Given the description of an element on the screen output the (x, y) to click on. 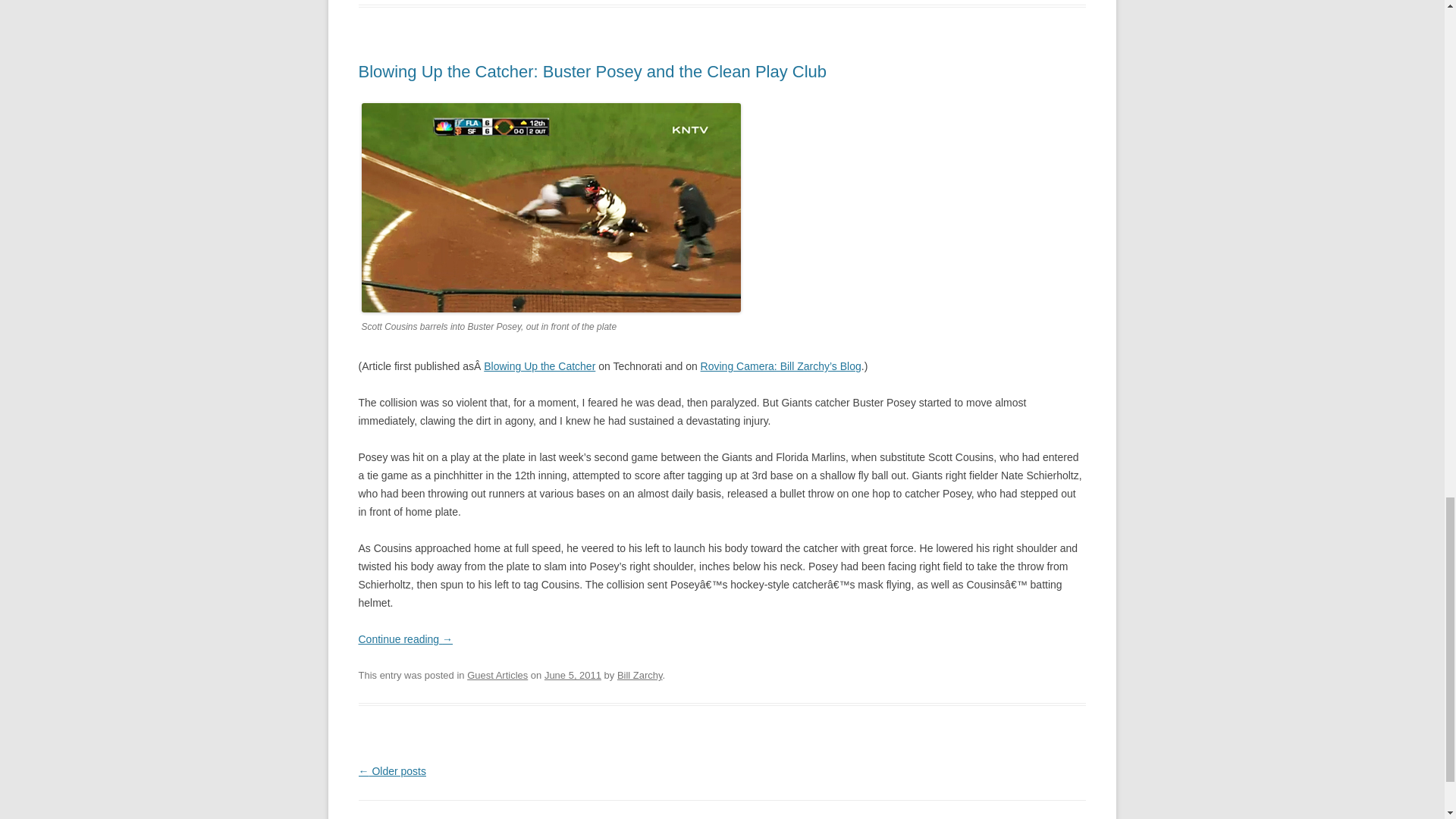
Posey1 (550, 207)
View all posts by Bill Zarchy (639, 674)
Bill Zarchy (639, 674)
6:46 pm (572, 674)
Blowing Up the Catcher (539, 366)
Blowing Up the Catcher: Buster Posey and the Clean Play Club (592, 71)
June 5, 2011 (572, 674)
Guest Articles (497, 674)
